Given the description of an element on the screen output the (x, y) to click on. 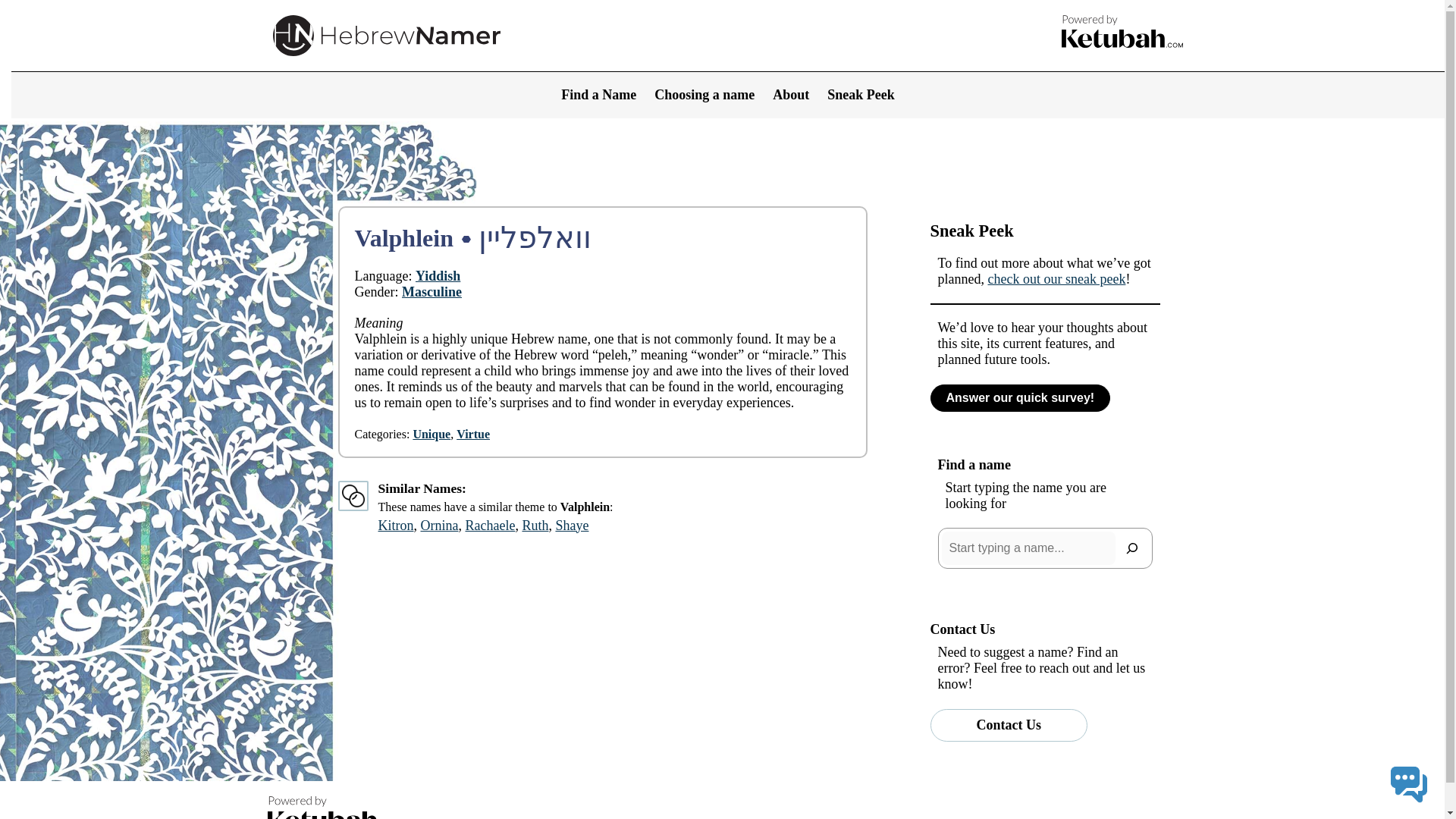
About HebrewNamer (799, 818)
Answer our quick survey! (1019, 397)
check out our sneak peek (1056, 278)
Terms of Service (1137, 818)
Find a Name (598, 94)
Shaye (571, 525)
About (791, 94)
Ruth (534, 525)
Sneak Peek (861, 94)
Contact Us (1008, 725)
Ornina (439, 525)
Rachaele (489, 525)
Choosing a name (703, 94)
Yiddish (437, 275)
Privacy Policy (1038, 818)
